Given the description of an element on the screen output the (x, y) to click on. 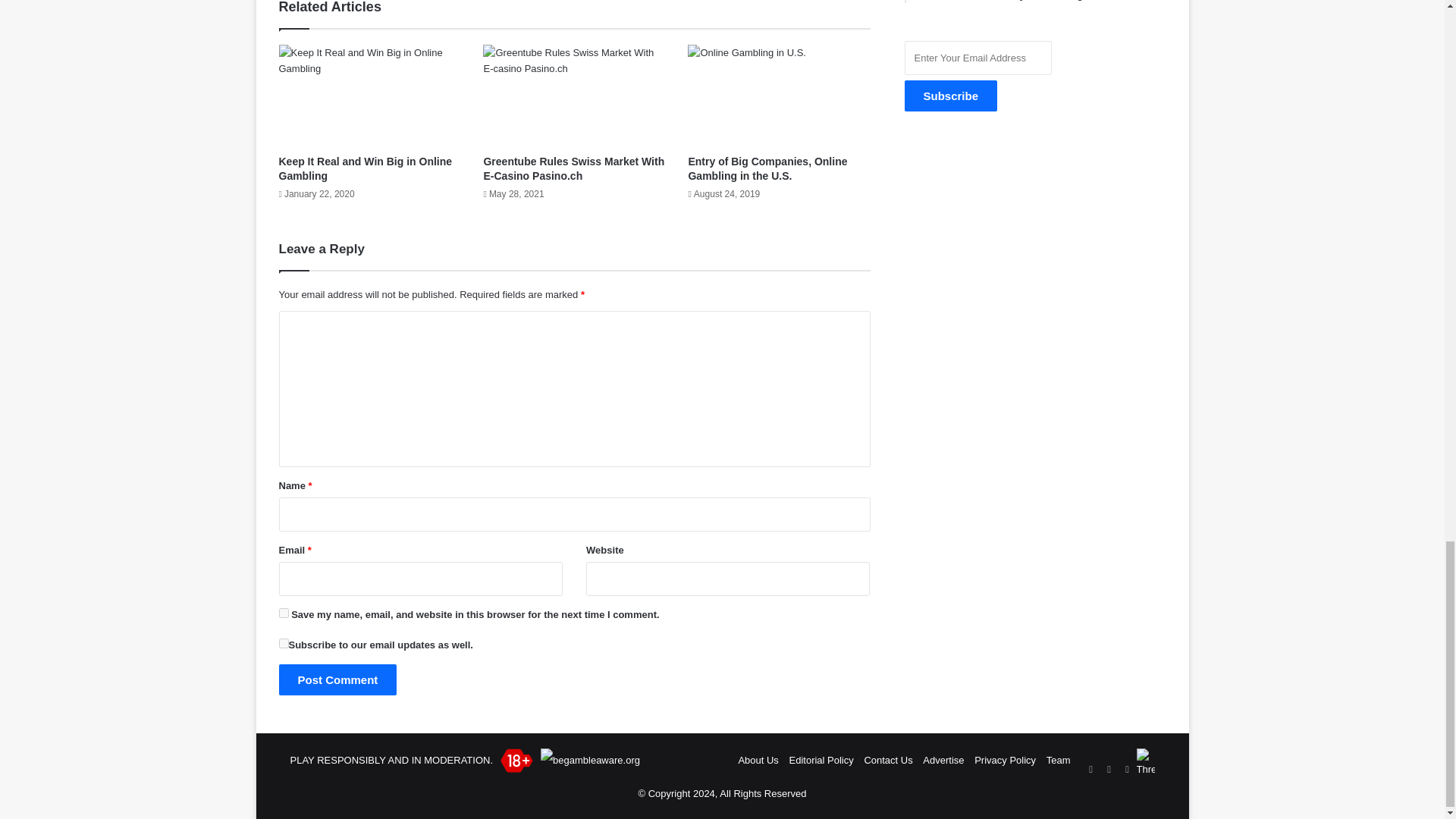
Post Comment (338, 679)
Subscribe (950, 95)
yes (283, 643)
yes (283, 613)
